Given the description of an element on the screen output the (x, y) to click on. 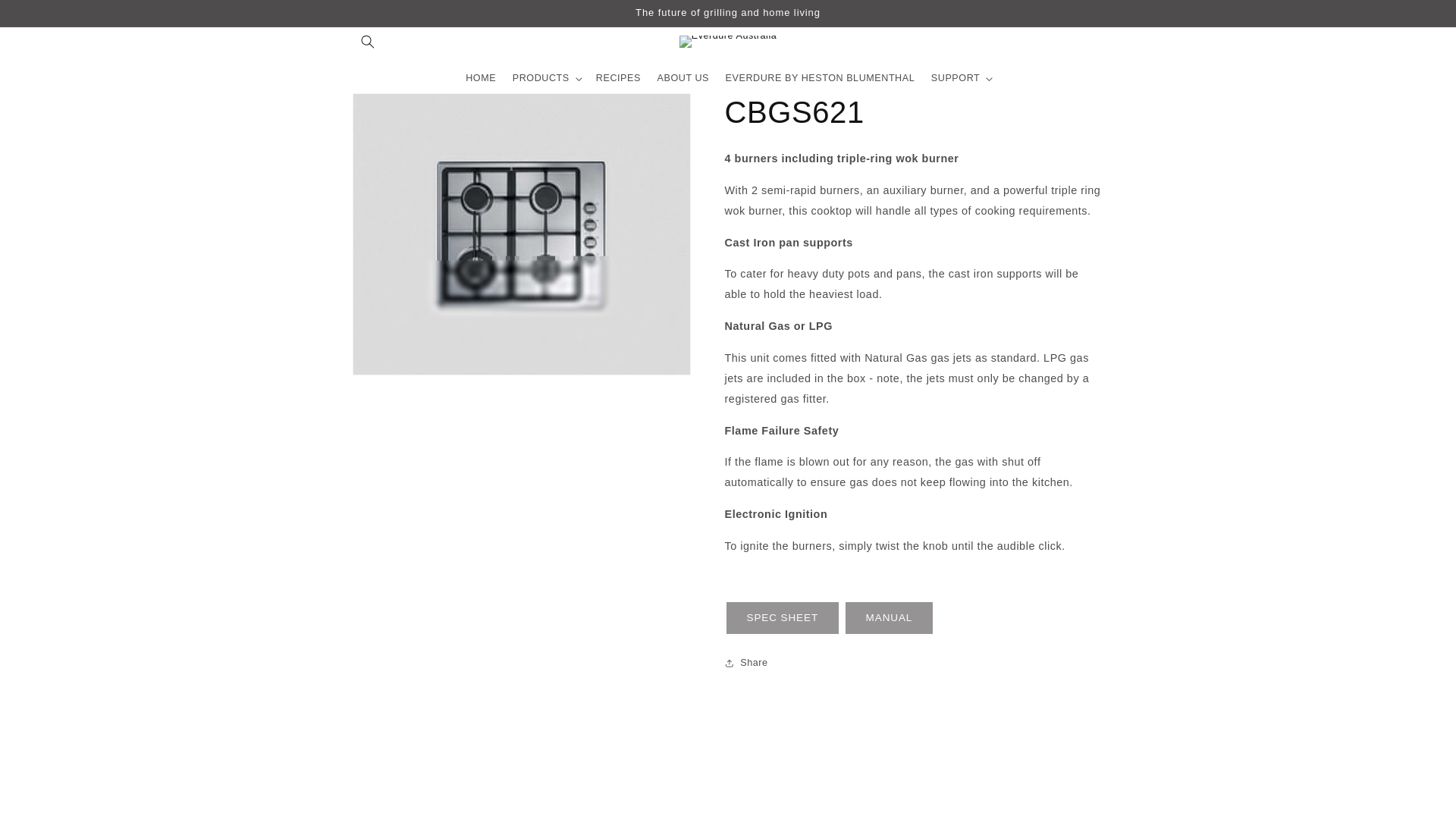
Skip to content (41, 15)
HOME (480, 78)
Skip to product information (393, 108)
Manual (889, 616)
ABOUT US (683, 78)
EVERDURE BY HESTON BLUMENTHAL (820, 78)
RECIPES (618, 78)
Spec Sheet (783, 616)
